Given the description of an element on the screen output the (x, y) to click on. 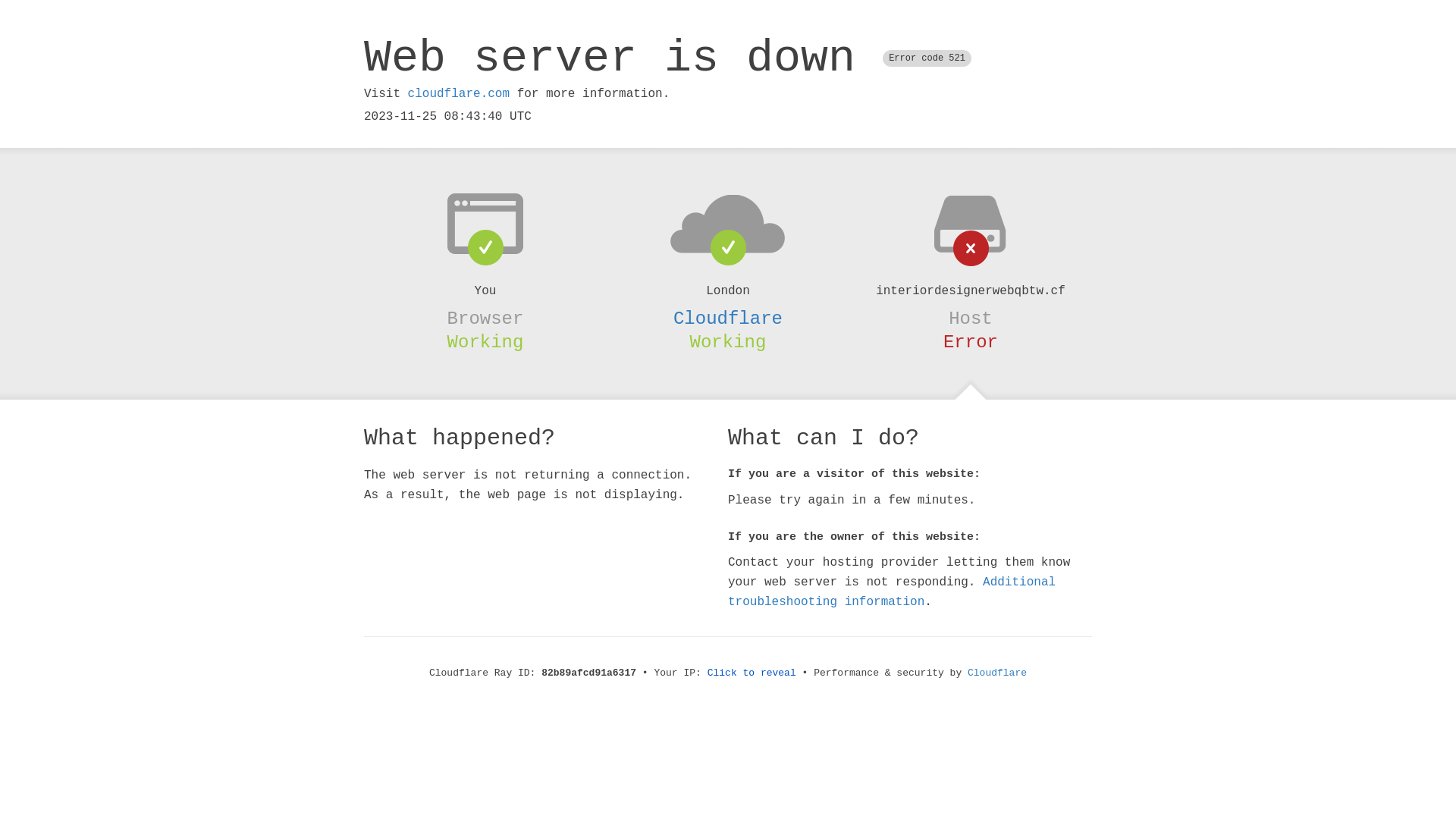
cloudflare.com Element type: text (458, 93)
Cloudflare Element type: text (996, 672)
Additional troubleshooting information Element type: text (891, 591)
Cloudflare Element type: text (727, 318)
Click to reveal Element type: text (751, 672)
